Given the description of an element on the screen output the (x, y) to click on. 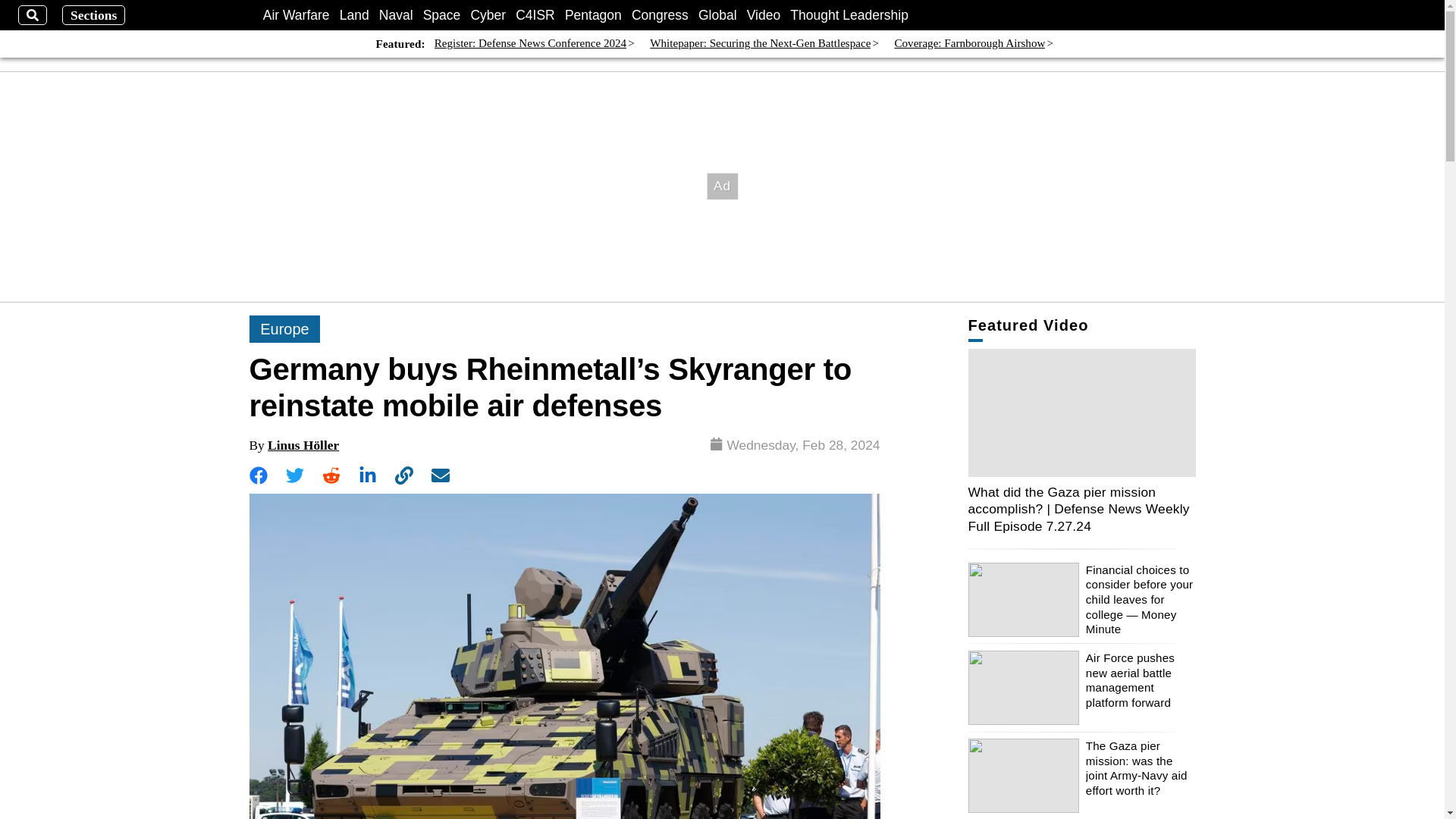
Naval (395, 14)
Land (354, 14)
Air Warfare (296, 14)
Sections (93, 14)
Congress (659, 14)
Space (442, 14)
Global (717, 14)
Video (763, 14)
Pentagon (592, 14)
Thought Leadership (849, 14)
